Given the description of an element on the screen output the (x, y) to click on. 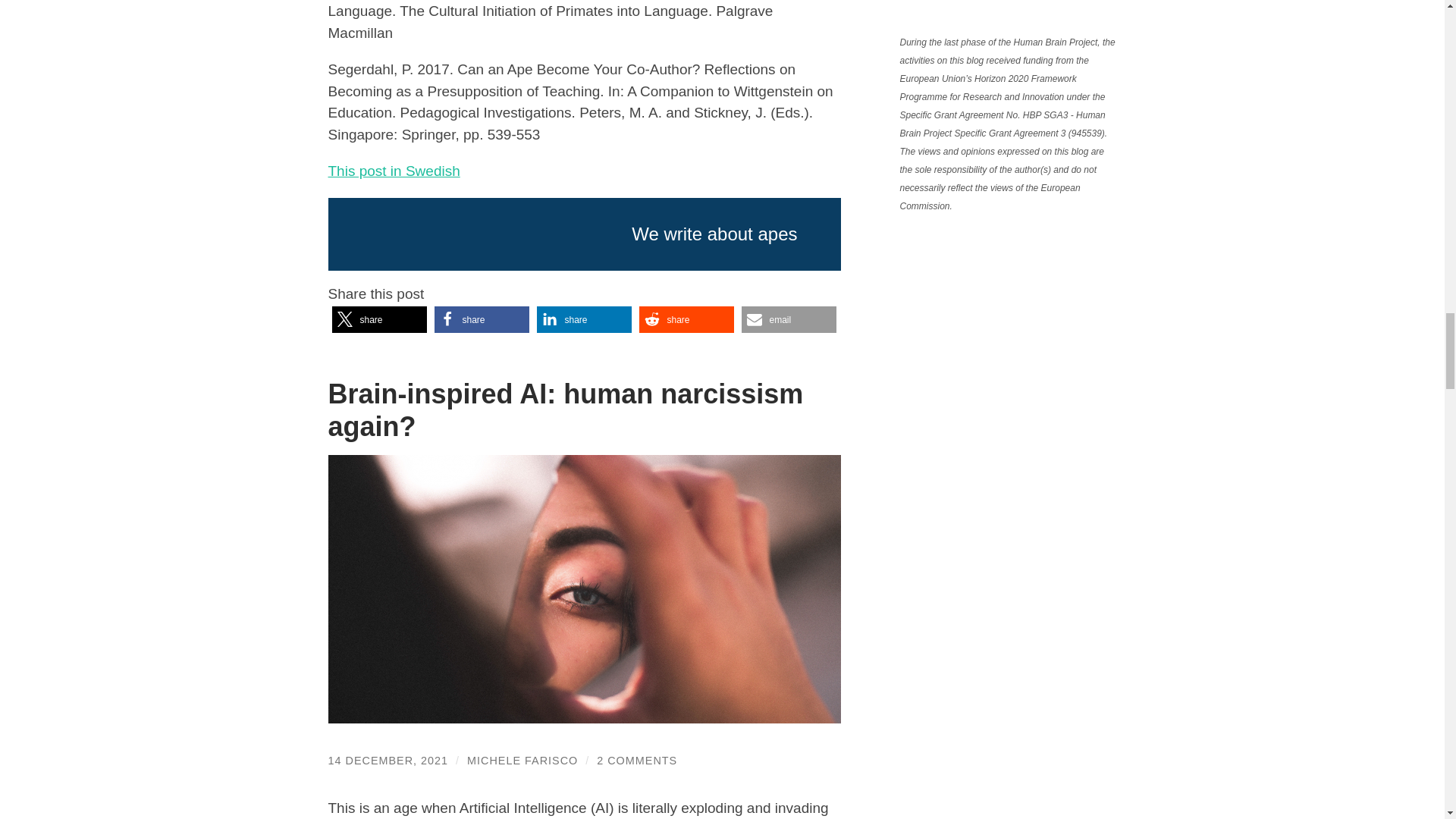
MICHELE FARISCO (522, 760)
2 COMMENTS (636, 760)
Brain-inspired AI: human narcissism again? (565, 410)
This post in Swedish (393, 170)
Share on Reddit (686, 319)
email  (788, 319)
14 DECEMBER, 2021 (387, 760)
Share on LinkedIn (584, 319)
share  (378, 319)
share  (584, 319)
Share on Facebook (480, 319)
Share on X (480, 319)
Send by email (686, 319)
